Given the description of an element on the screen output the (x, y) to click on. 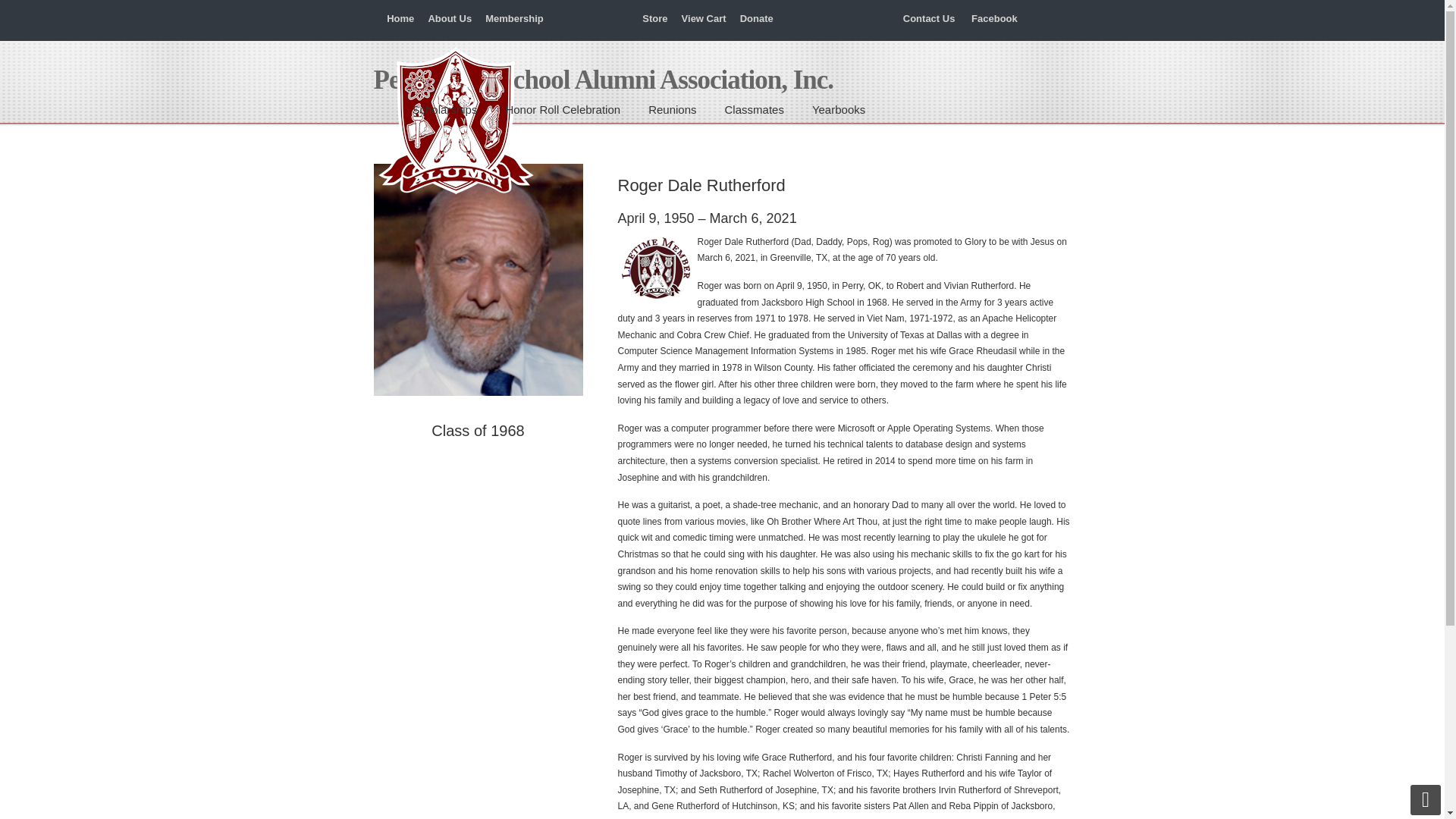
About Us (450, 18)
Honor Roll Celebration (561, 110)
Store (654, 18)
Classmates (754, 110)
Home (400, 18)
Donate (756, 18)
Perry High School Alumni Association, Inc. (453, 121)
Membership (514, 18)
Contact Us (928, 18)
Scholarships (445, 110)
Reunions (672, 110)
Facebook (994, 18)
Perry High School Alumni Association, Inc. (453, 121)
Facebook (994, 18)
View Cart (703, 18)
